Given the description of an element on the screen output the (x, y) to click on. 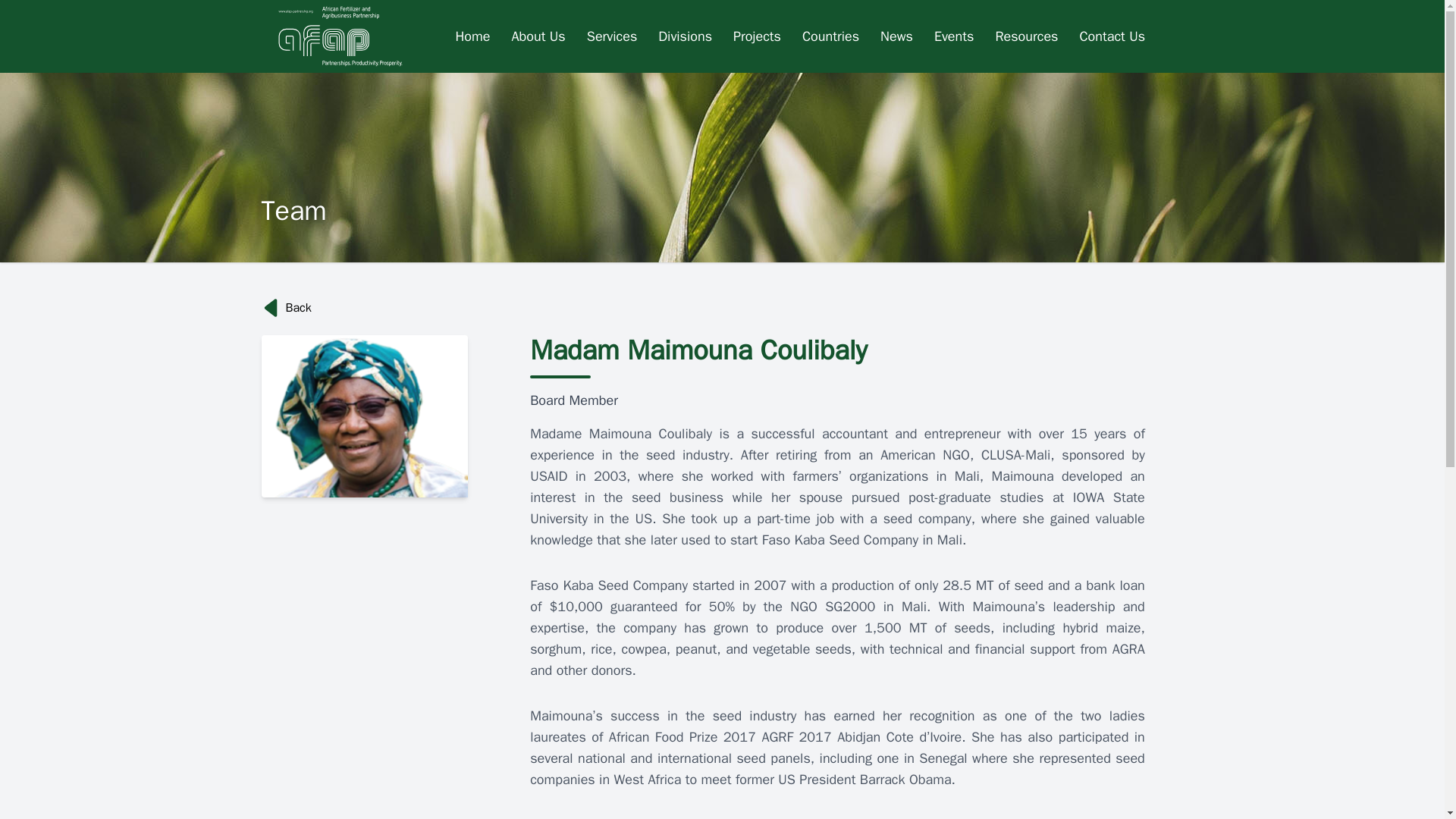
Projects (756, 36)
Resources (1026, 36)
Services (611, 36)
Countries (830, 36)
Events (953, 36)
Back (721, 307)
About Us (538, 36)
Contact Us (1112, 36)
News (896, 36)
Home (472, 36)
Divisions (684, 36)
